Given the description of an element on the screen output the (x, y) to click on. 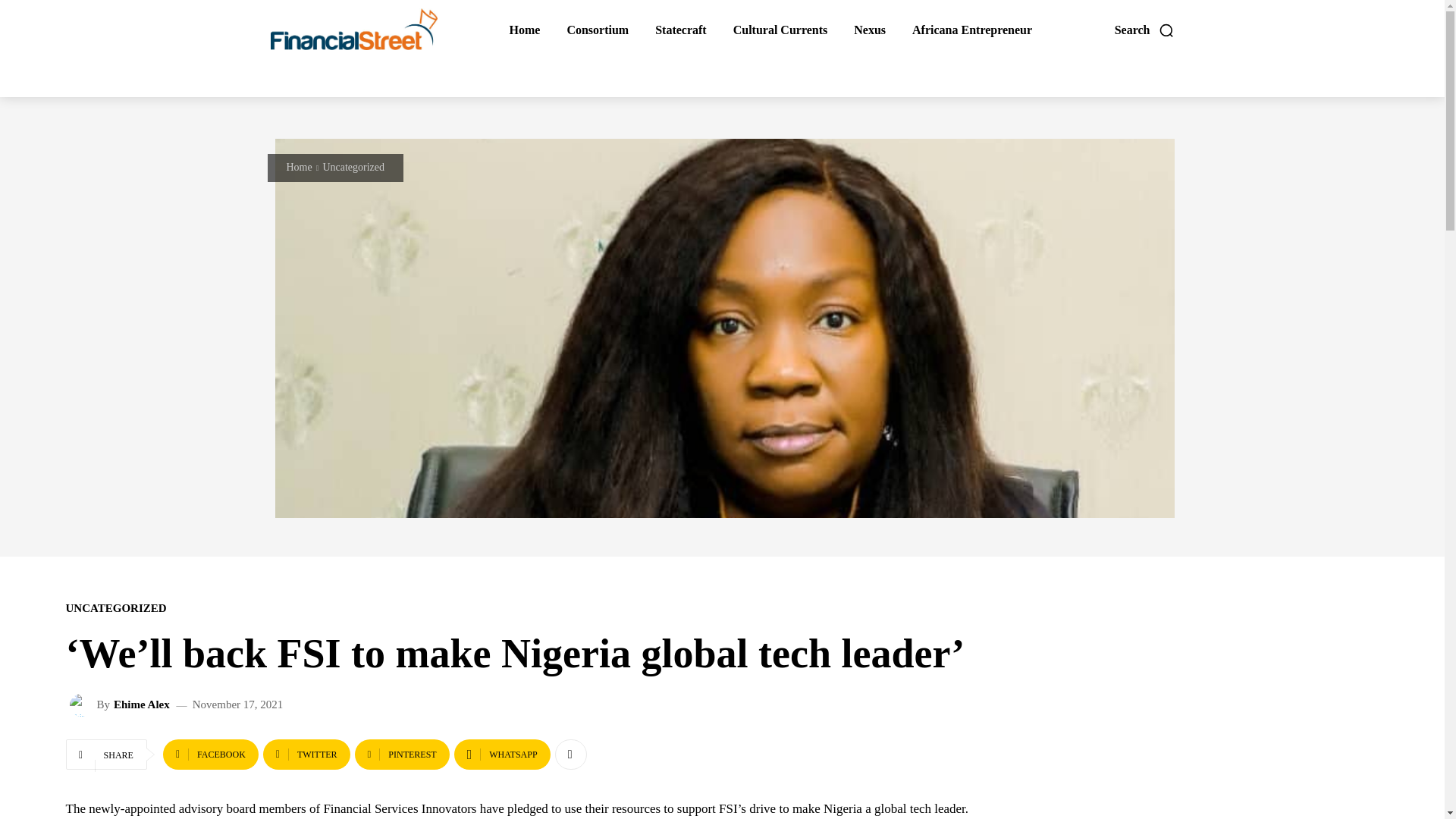
Uncategorized (352, 166)
Pinterest (402, 754)
More (570, 754)
WhatsApp (502, 754)
UNCATEGORIZED (115, 608)
PINTEREST (402, 754)
Twitter (306, 754)
WHATSAPP (502, 754)
Ehime Alex (141, 704)
Cultural Currents (780, 30)
Facebook (211, 754)
View all posts in Uncategorized (352, 166)
Africana Entrepreneur (971, 30)
Statecraft (680, 30)
TWITTER (306, 754)
